Given the description of an element on the screen output the (x, y) to click on. 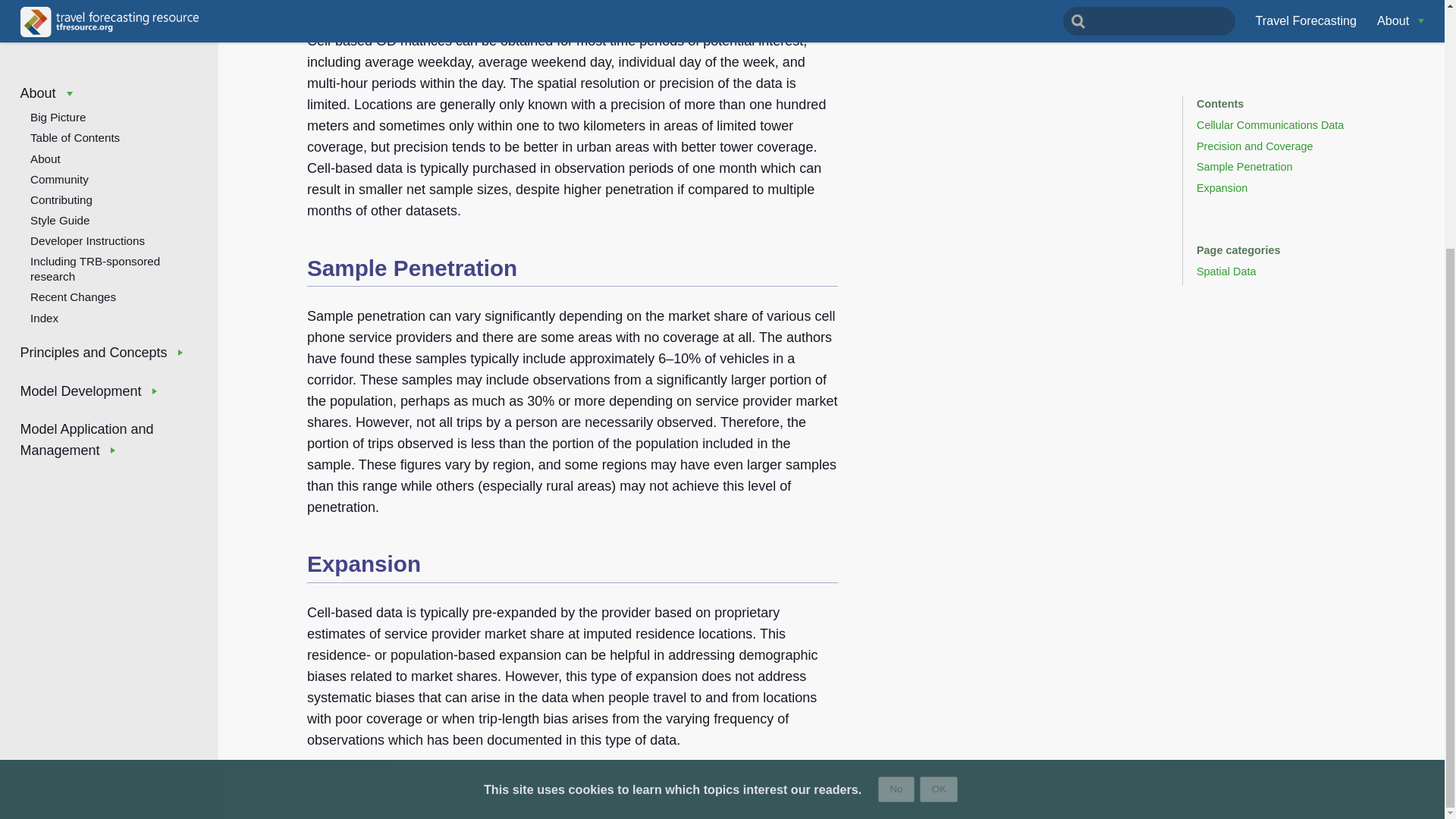
OK (939, 441)
No (895, 441)
